Given the description of an element on the screen output the (x, y) to click on. 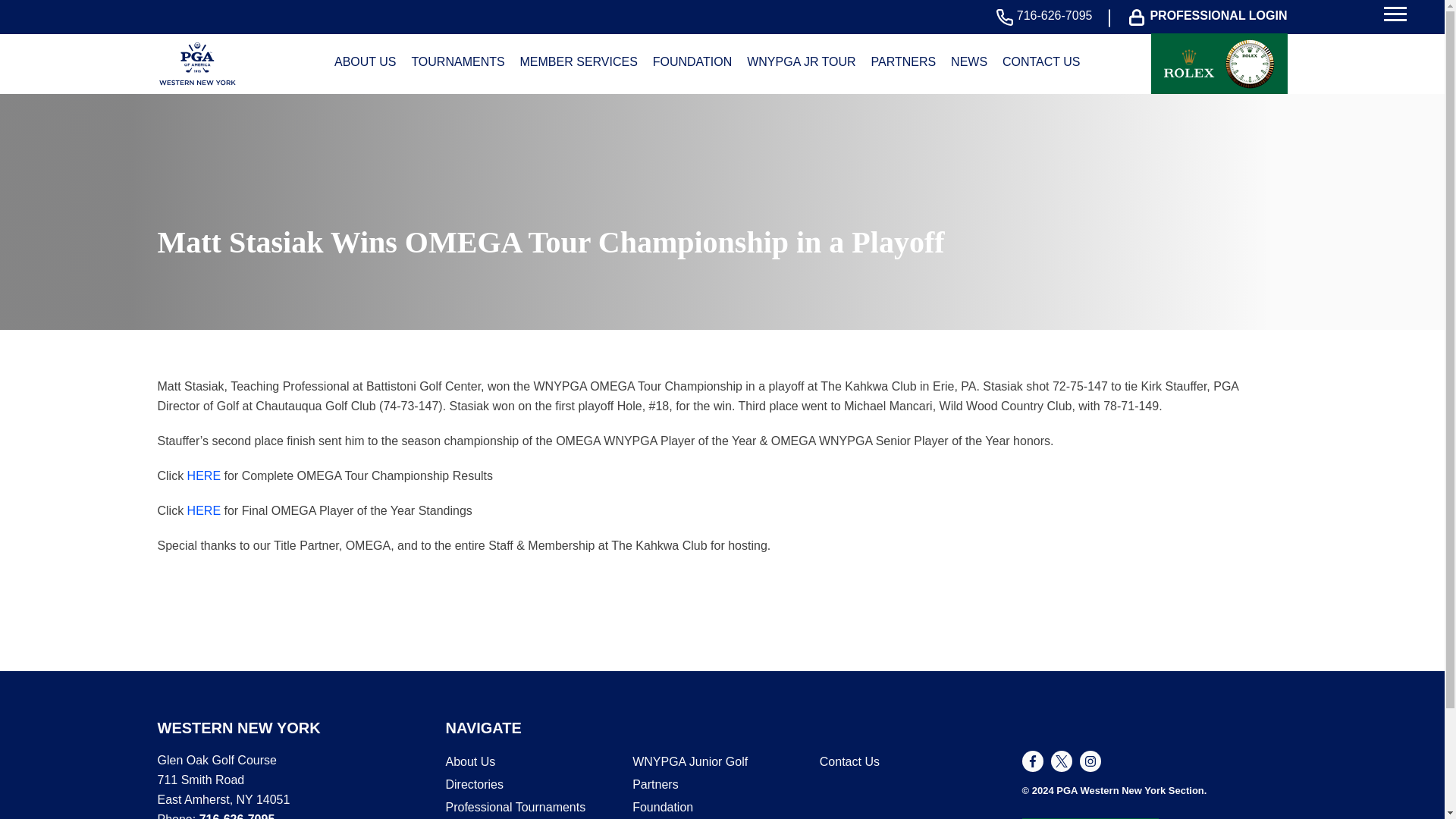
Twitter (1061, 761)
Instagram (1090, 761)
Facebook (1032, 761)
